Given the description of an element on the screen output the (x, y) to click on. 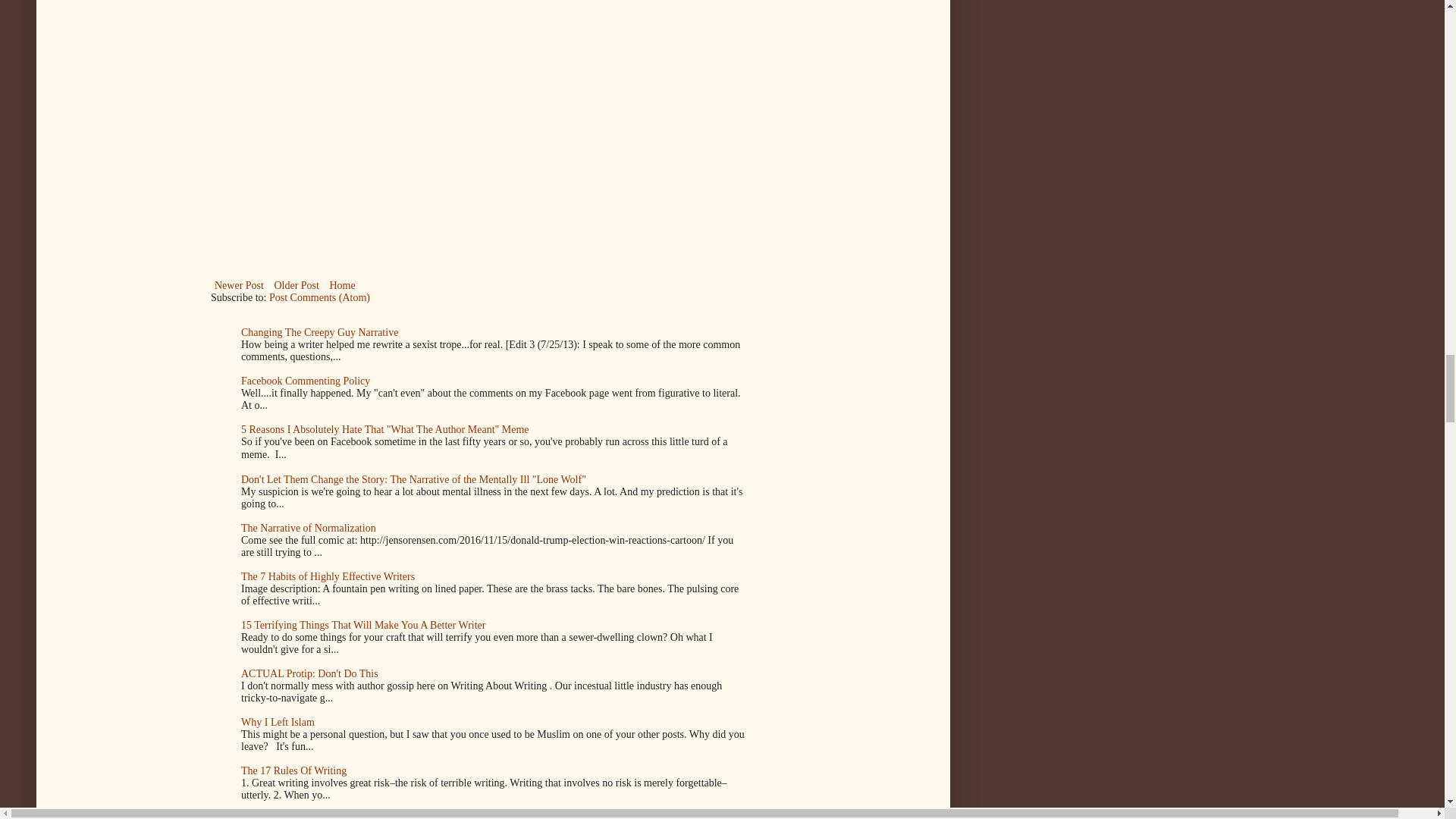
Newer Post (239, 285)
Older Post (296, 285)
